Given the description of an element on the screen output the (x, y) to click on. 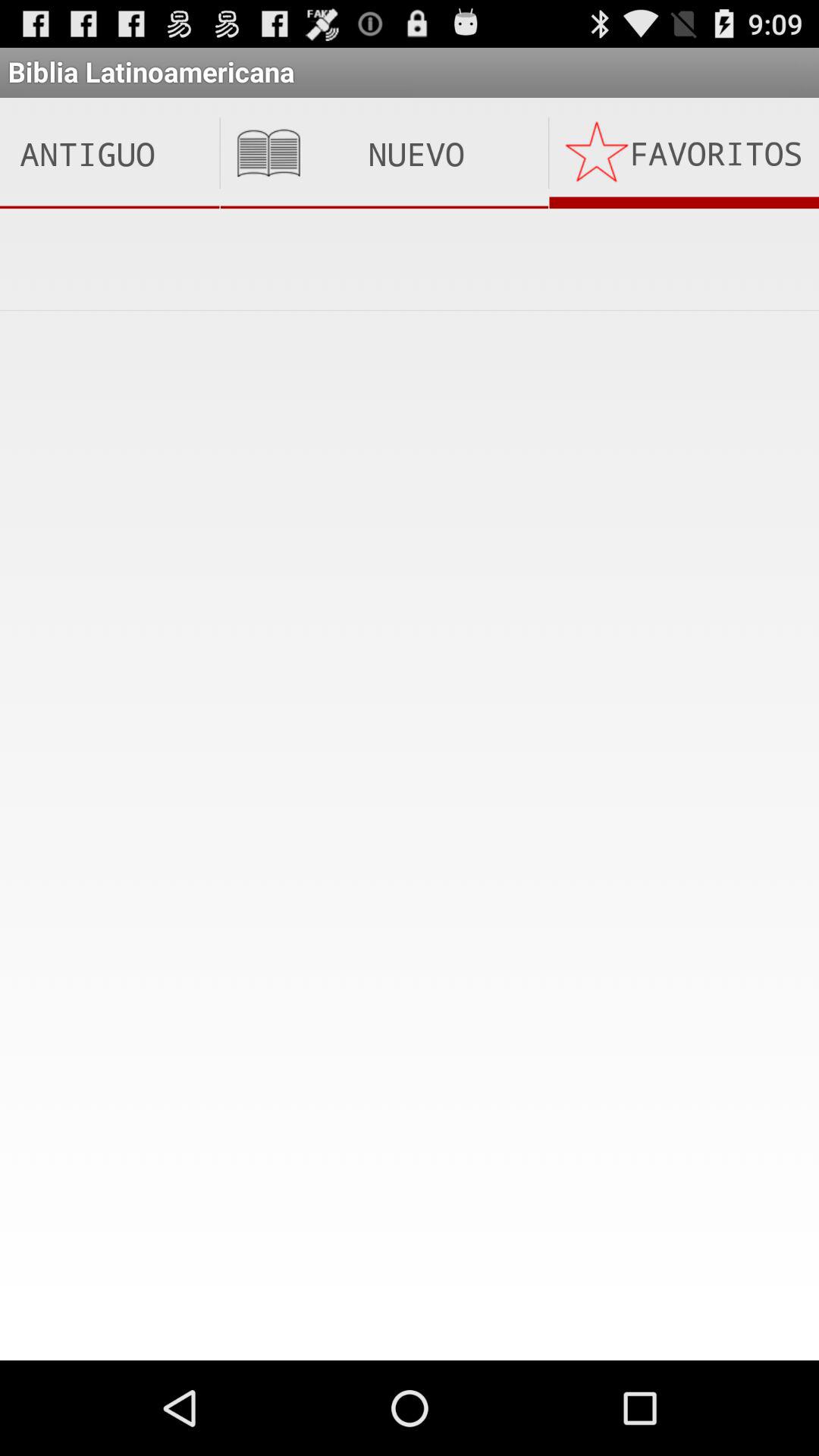
swipe until favoritos item (684, 152)
